Given the description of an element on the screen output the (x, y) to click on. 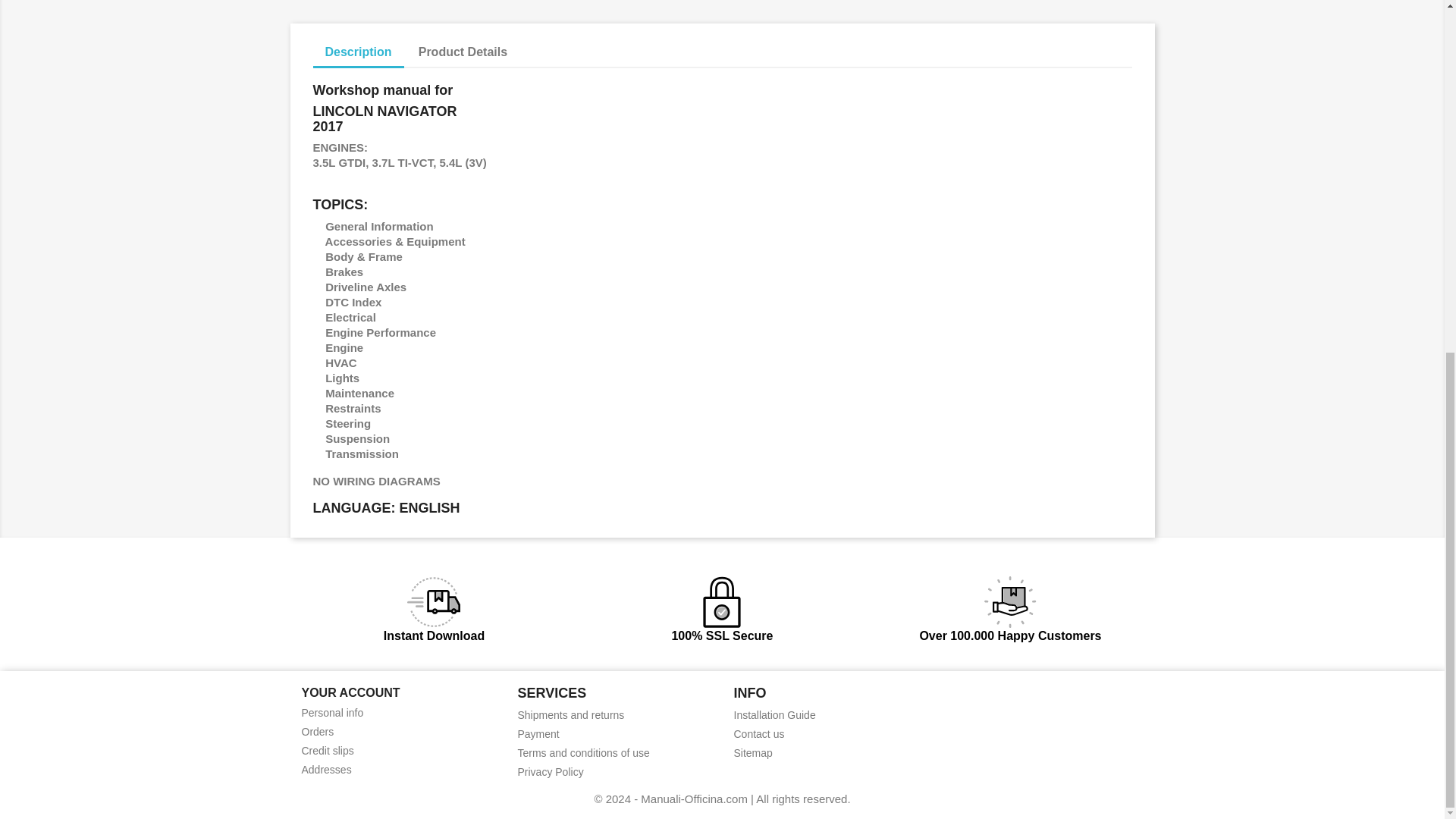
Personal info (332, 712)
Credit slips (327, 750)
Orders (317, 731)
Addresses (326, 769)
